Given the description of an element on the screen output the (x, y) to click on. 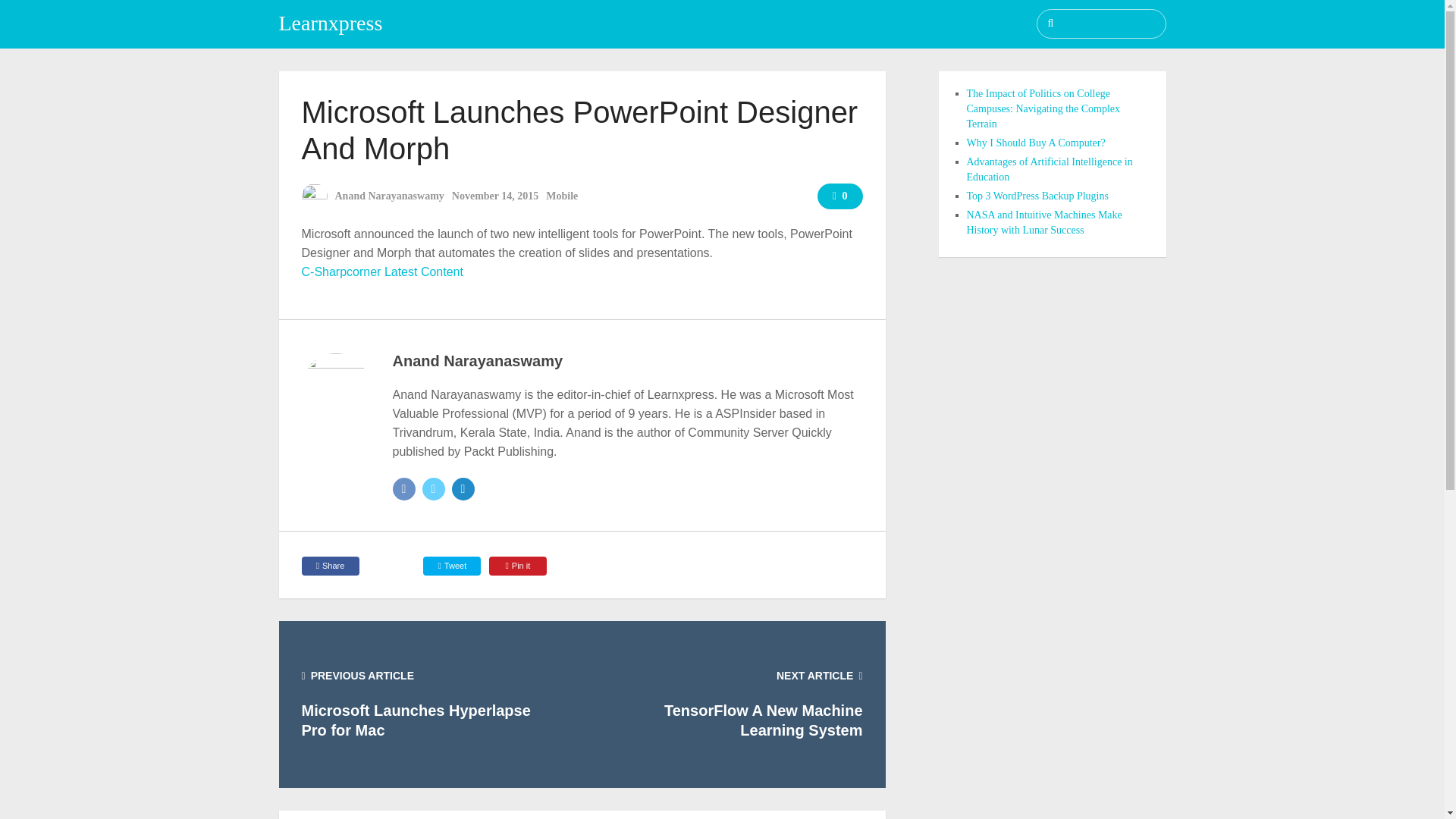
Top 3 WordPress Backup Plugins (1037, 195)
Share (330, 565)
Tweet (451, 565)
Anand Narayanaswamy (478, 360)
NASA and Intuitive Machines Make History with Lunar Success (1043, 222)
Posts by Anand Narayanaswamy (389, 195)
0 (839, 196)
Pin it (518, 565)
Why I Should Buy A Computer? (1035, 142)
